Given the description of an element on the screen output the (x, y) to click on. 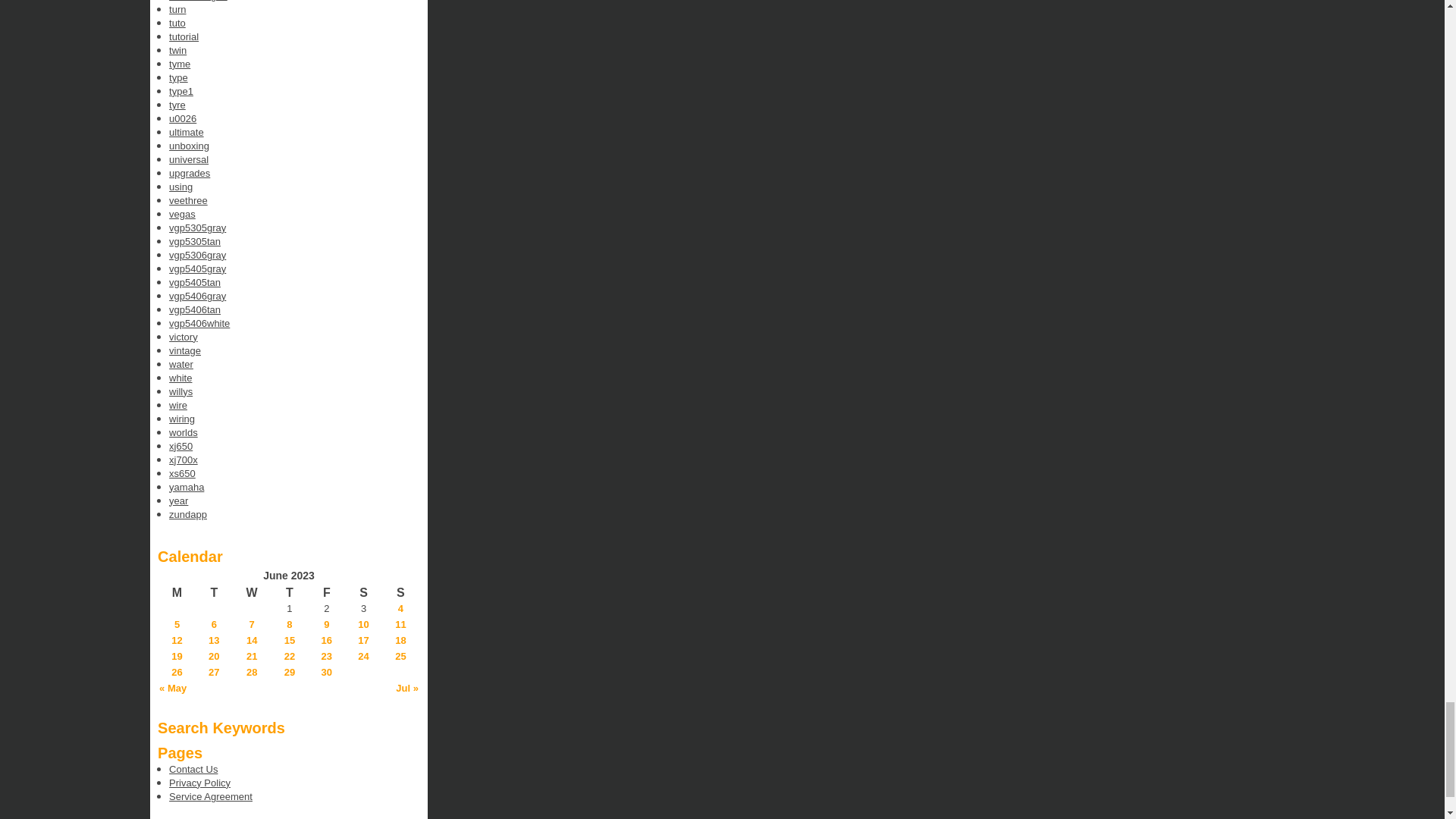
Tuesday (213, 592)
Friday (325, 592)
Monday (176, 592)
Wednesday (251, 592)
Thursday (289, 592)
